Given the description of an element on the screen output the (x, y) to click on. 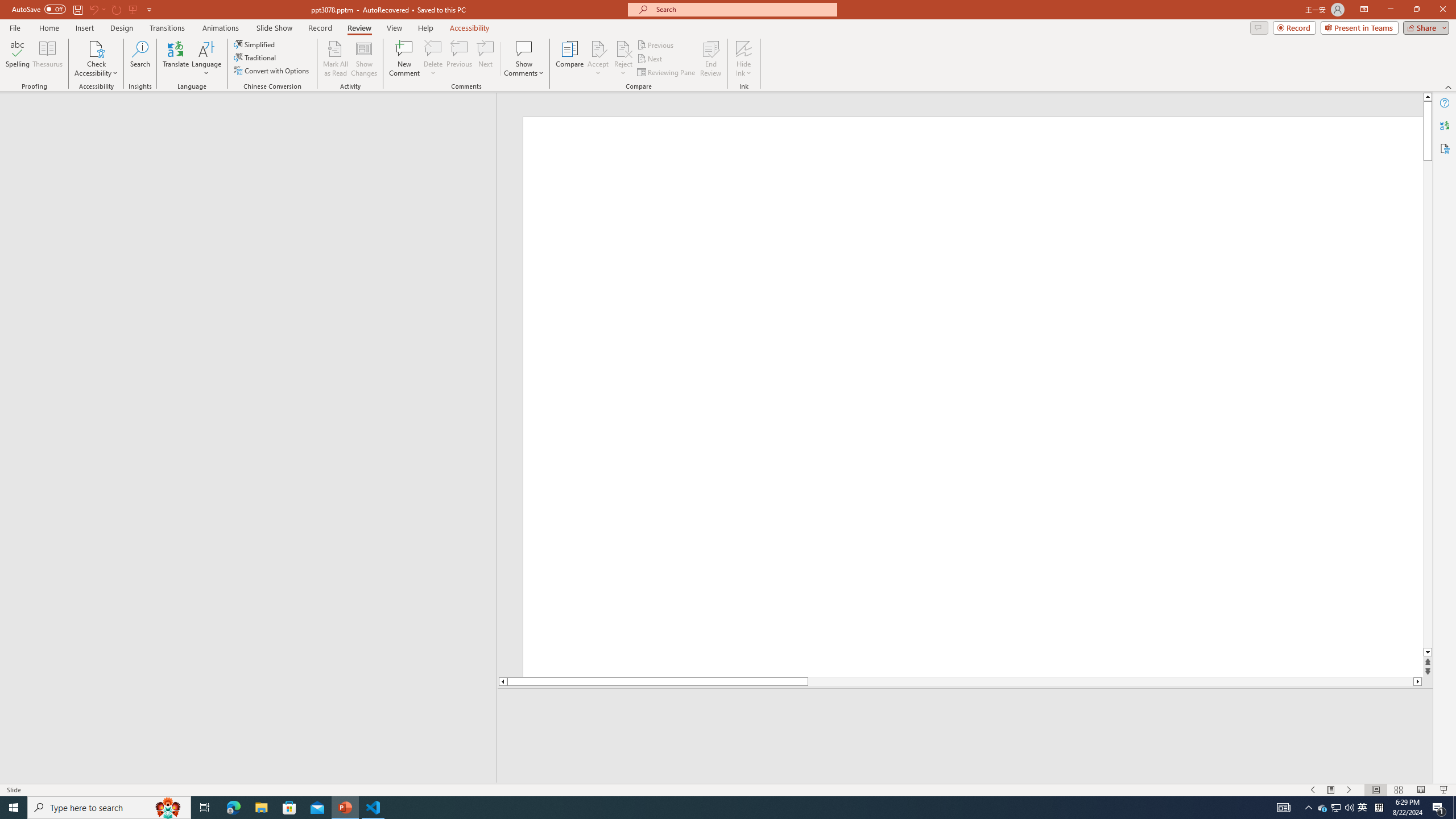
Accept Change (598, 48)
Class: MsoCommandBar (728, 789)
Check Accessibility (95, 48)
Reviewing Pane (666, 72)
Delete (432, 58)
Previous (655, 44)
Show Comments (524, 48)
